Given the description of an element on the screen output the (x, y) to click on. 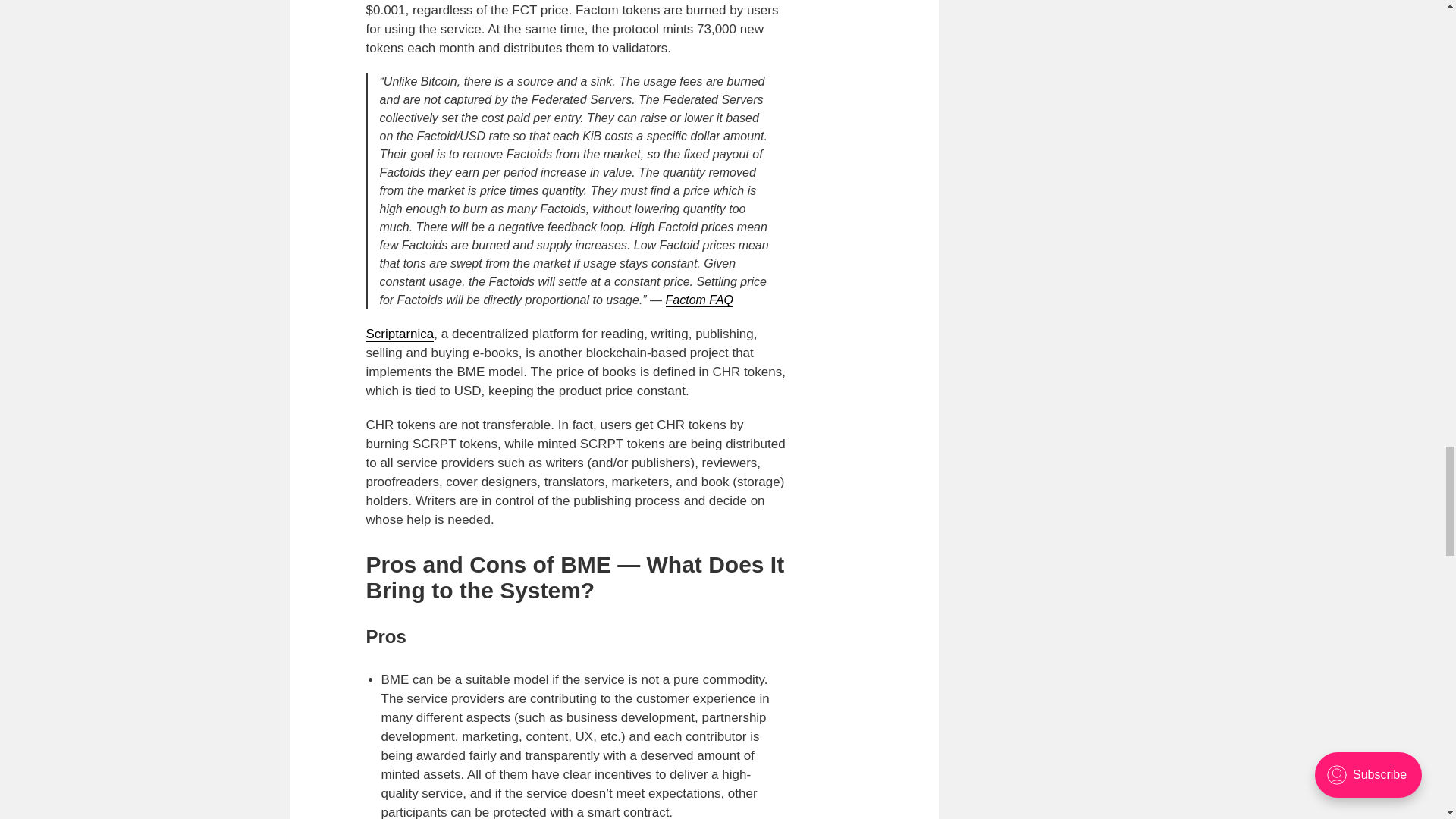
Scriptarnica (399, 334)
Factom FAQ (699, 300)
